Given the description of an element on the screen output the (x, y) to click on. 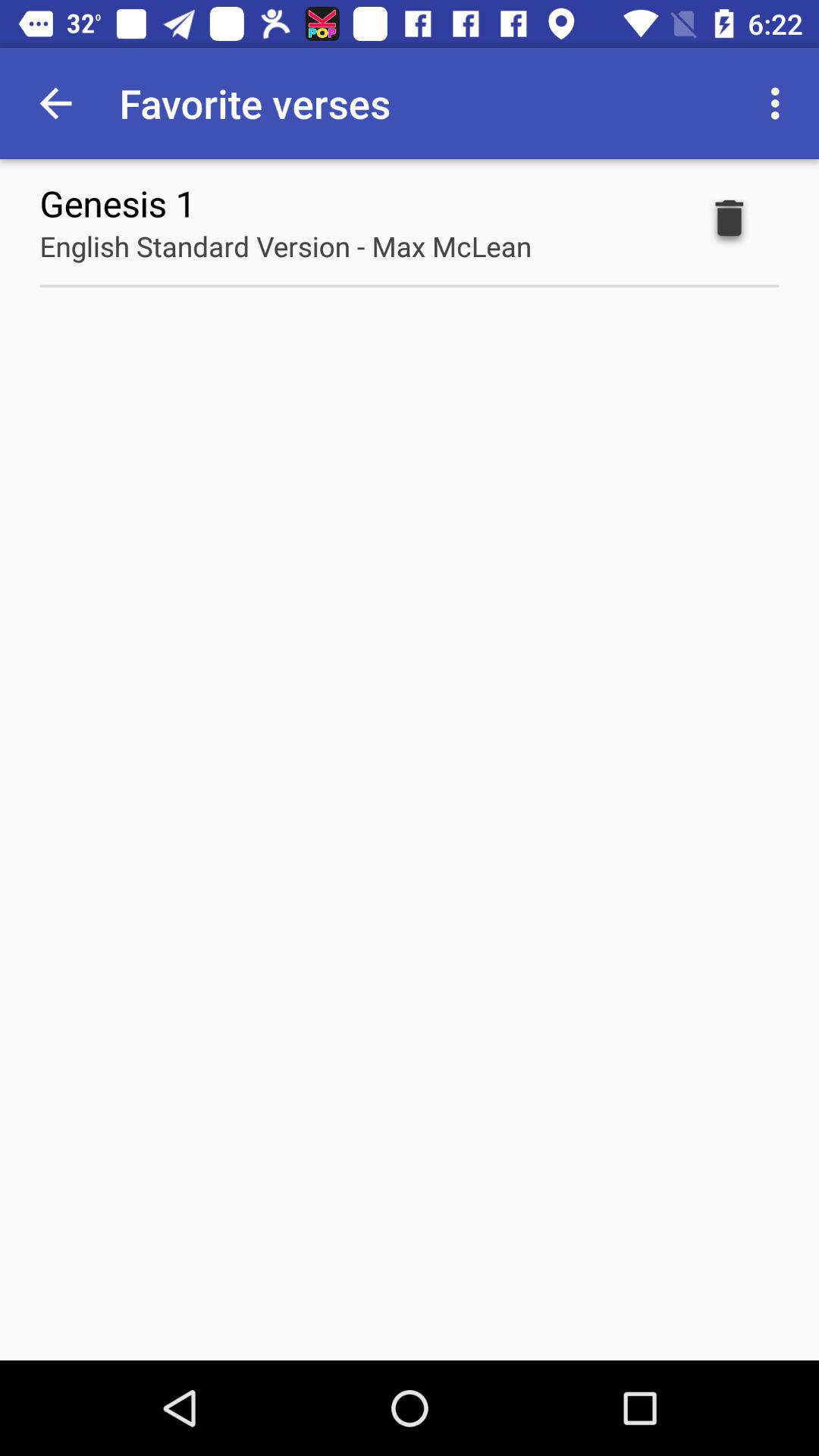
open icon to the left of the favorite verses (55, 103)
